Given the description of an element on the screen output the (x, y) to click on. 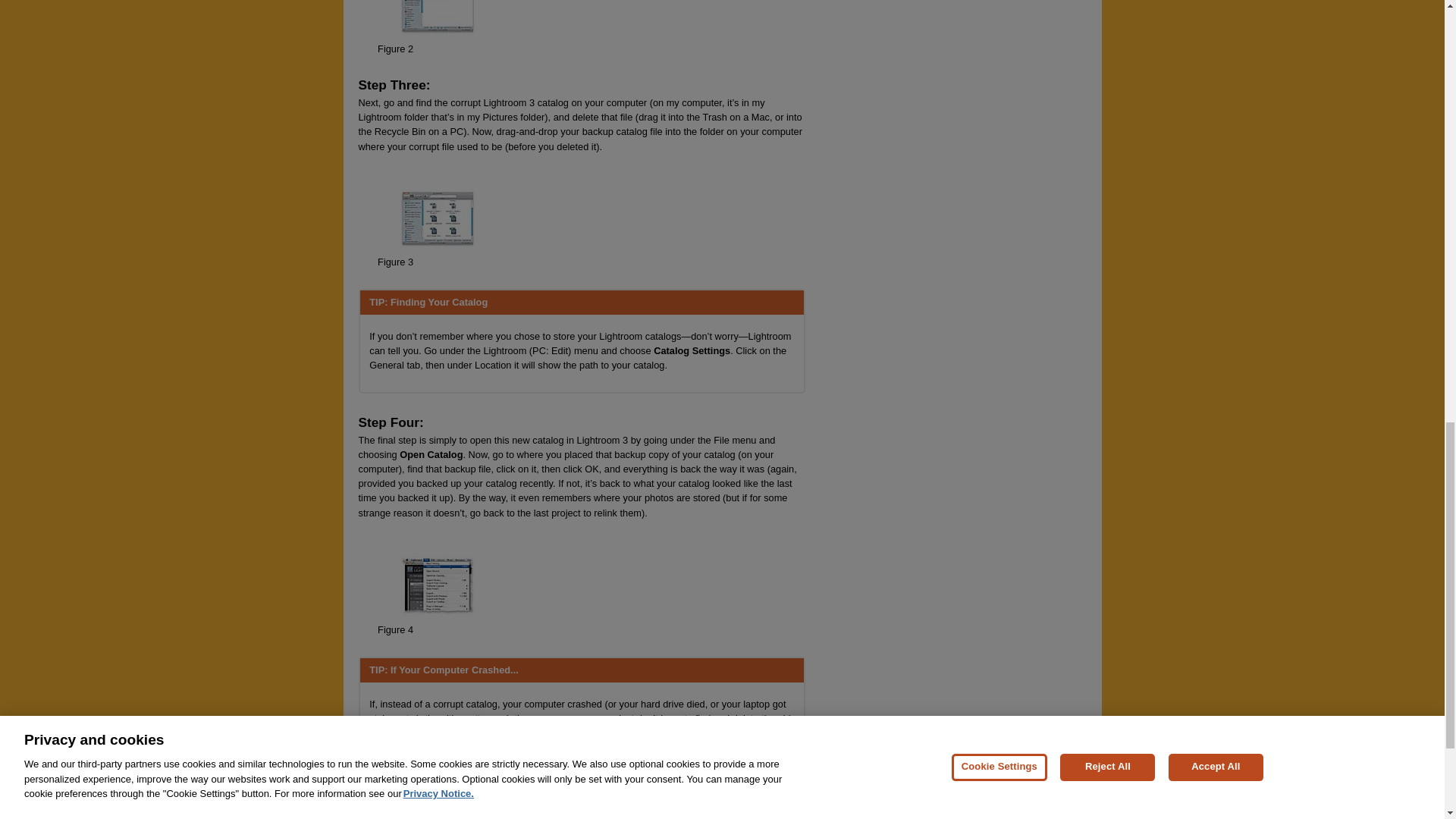
Figure 2 (395, 48)
Figure 3 (395, 261)
Figure 4 (395, 629)
